Given the description of an element on the screen output the (x, y) to click on. 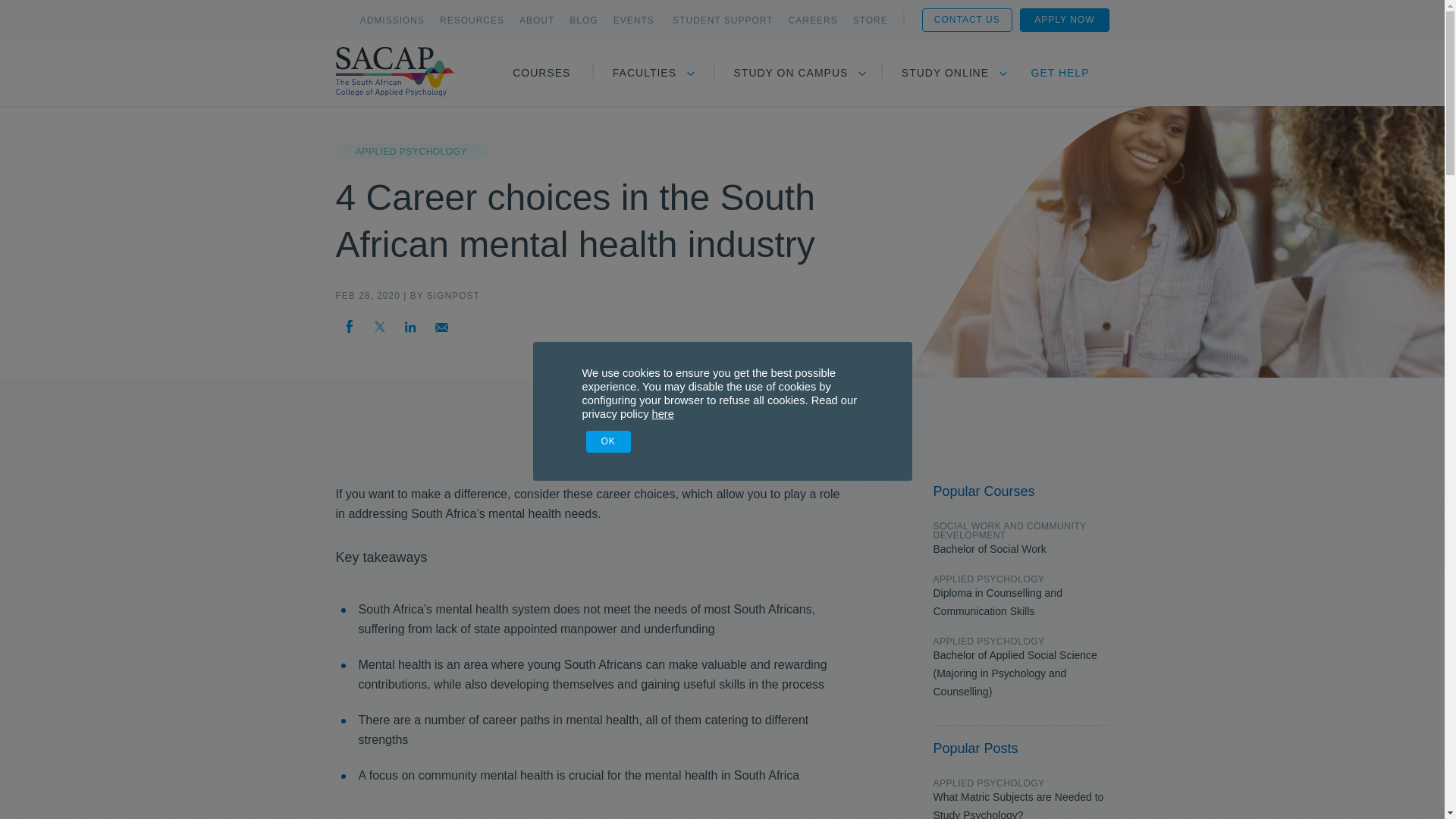
CAREERS (813, 19)
STUDENT SUPPORT (722, 19)
STUDY ONLINE (945, 72)
COURSES (541, 72)
RESOURCES (471, 19)
GET HELP (1059, 72)
EVENTS  (635, 19)
STORE (870, 19)
ABOUT (536, 19)
BLOG (582, 19)
CONTACT US (966, 19)
FACULTIES (644, 72)
APPLY NOW (1064, 19)
ADMISSIONS (392, 19)
STUDY ON CAMPUS (790, 72)
